Given the description of an element on the screen output the (x, y) to click on. 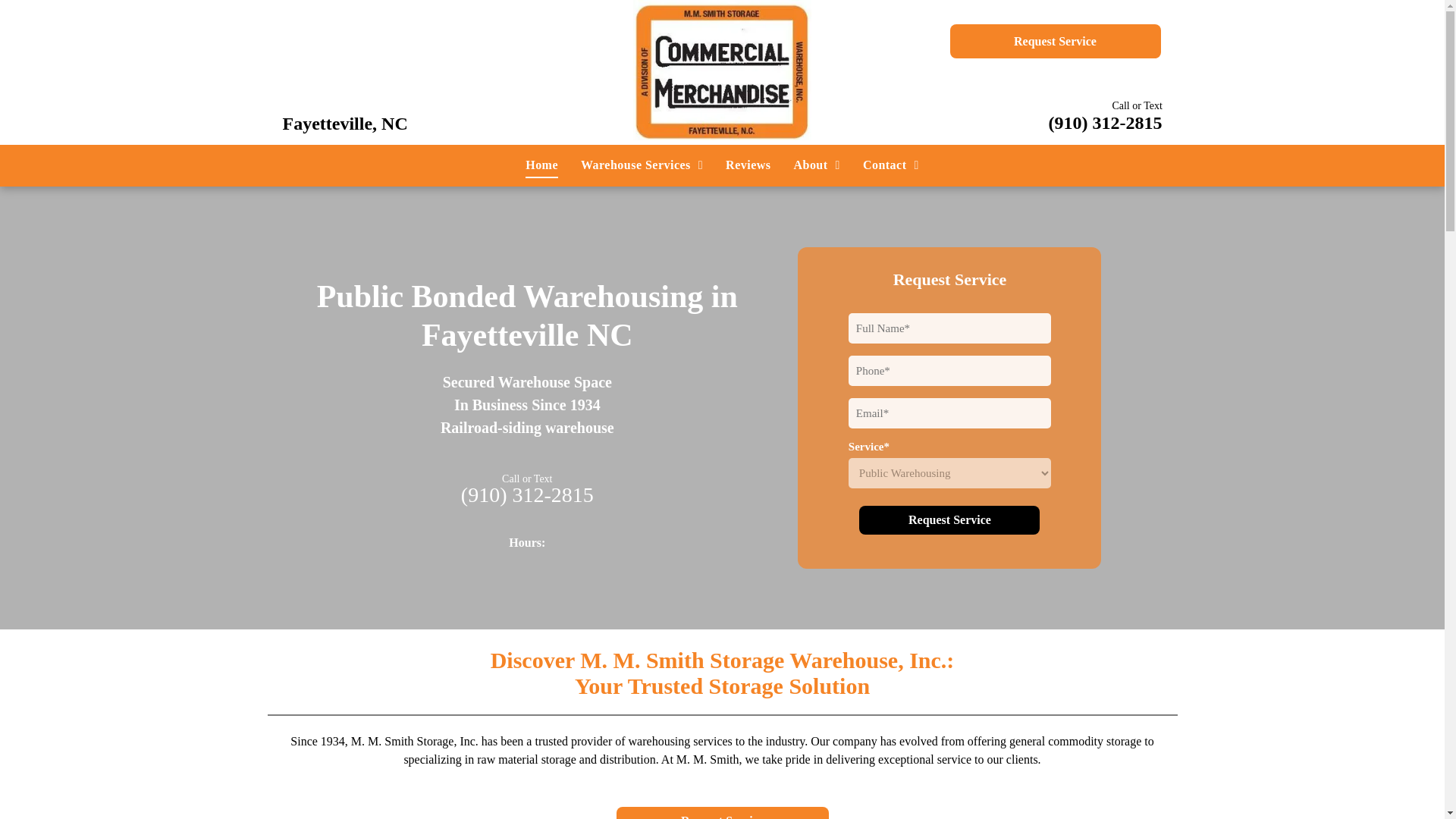
Home (541, 165)
Request Service (721, 812)
Contact (890, 165)
About (815, 165)
Request Service (1054, 41)
Reviews (747, 165)
Request Service (949, 520)
Warehouse Services (641, 165)
Request Service (949, 520)
